Given the description of an element on the screen output the (x, y) to click on. 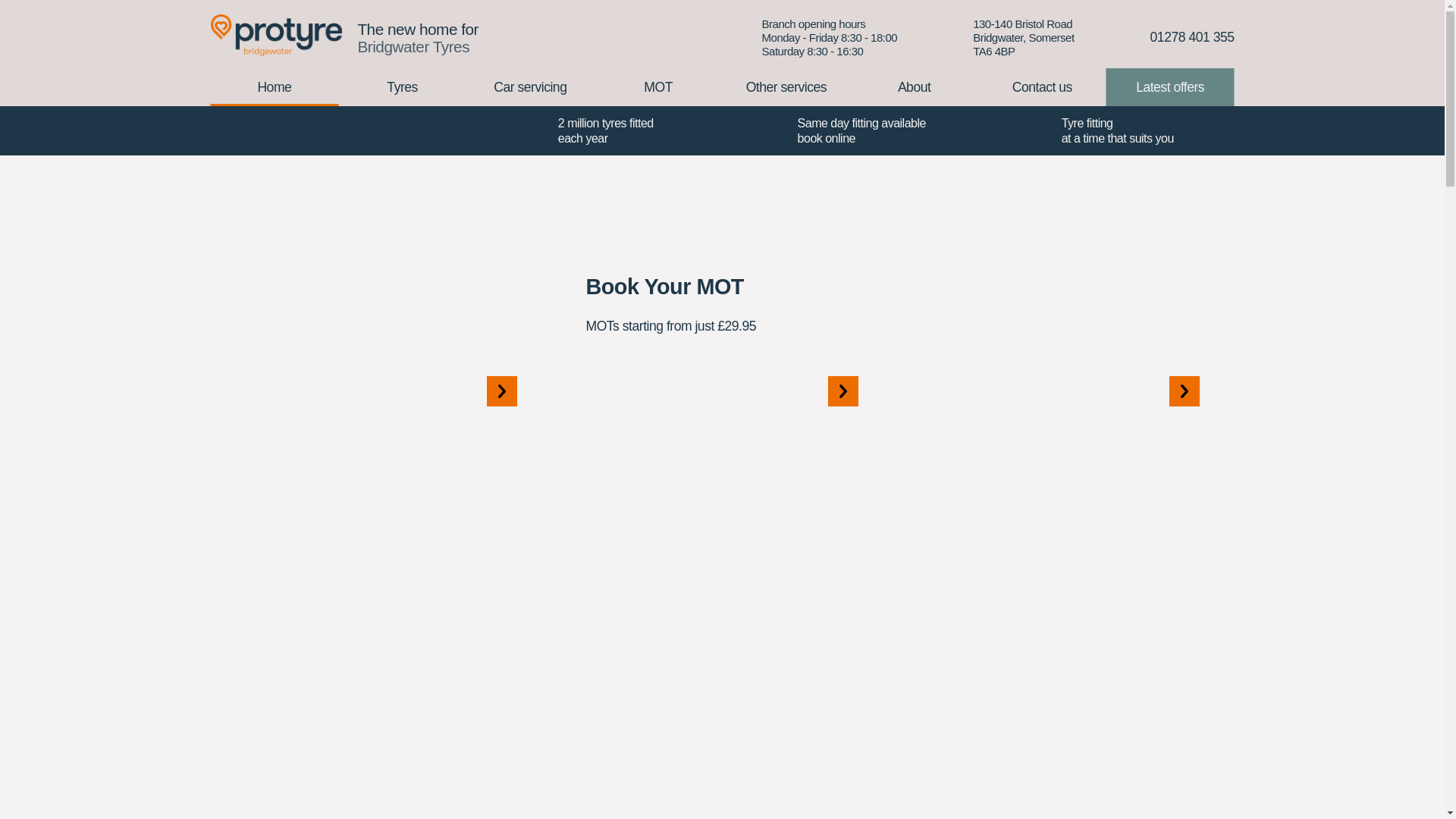
Car servicing (529, 86)
01278 401 355 (1192, 37)
Bridgwater Tyres (412, 46)
Tyres (401, 86)
Contact us (1042, 86)
Home (275, 86)
About (1023, 37)
Latest offers (914, 86)
Other services (1170, 86)
